Given the description of an element on the screen output the (x, y) to click on. 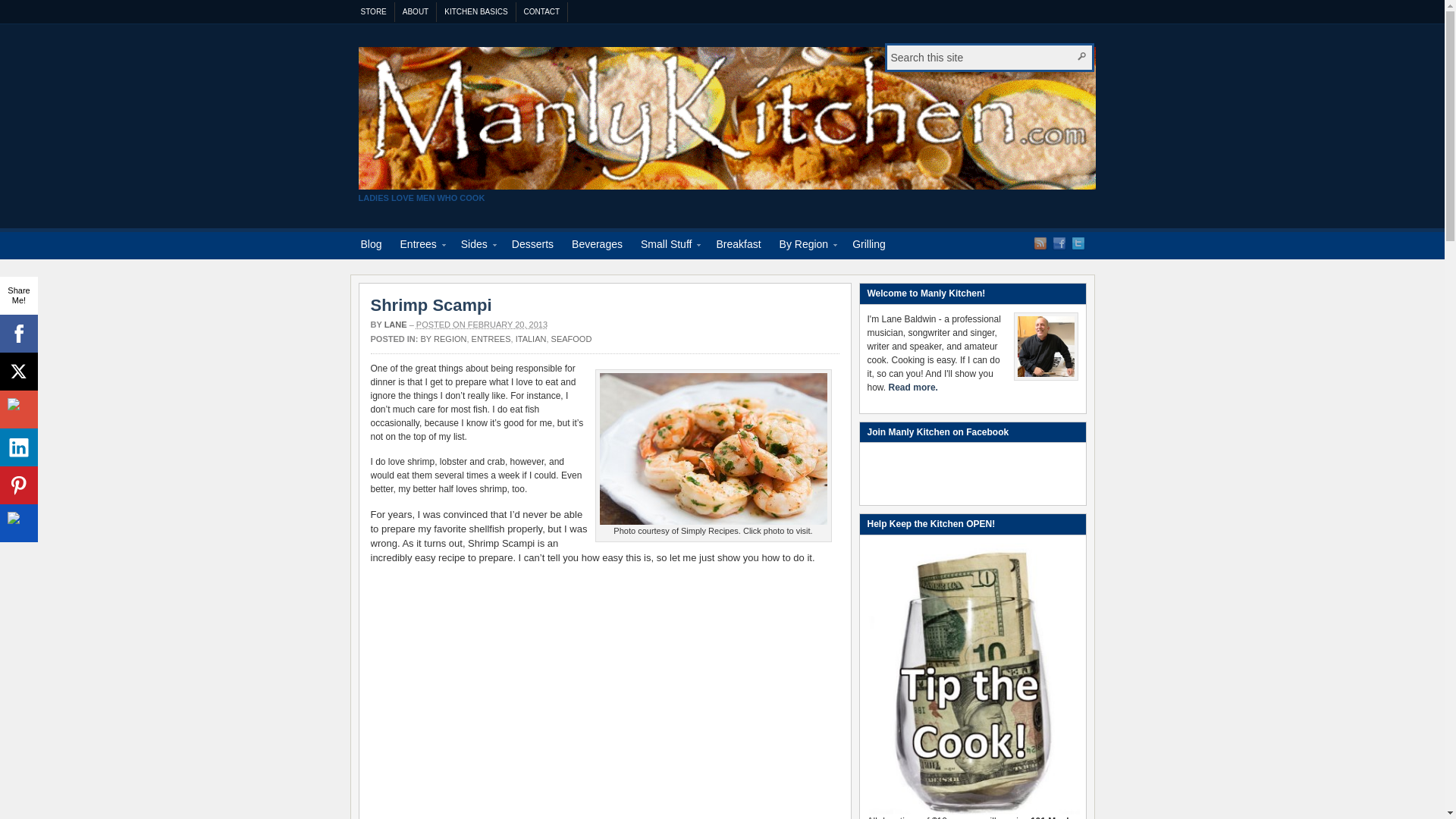
Facebook (1058, 242)
Beverages (596, 245)
Manly Kitchen Twitter (1078, 242)
RSS Feed (1040, 242)
Manly Kitchen Facebook (1058, 242)
KITCHEN BASICS (475, 12)
Lane Baldwin (1045, 346)
Breakfast (738, 245)
CONTACT (542, 12)
ENTREES (491, 338)
